Given the description of an element on the screen output the (x, y) to click on. 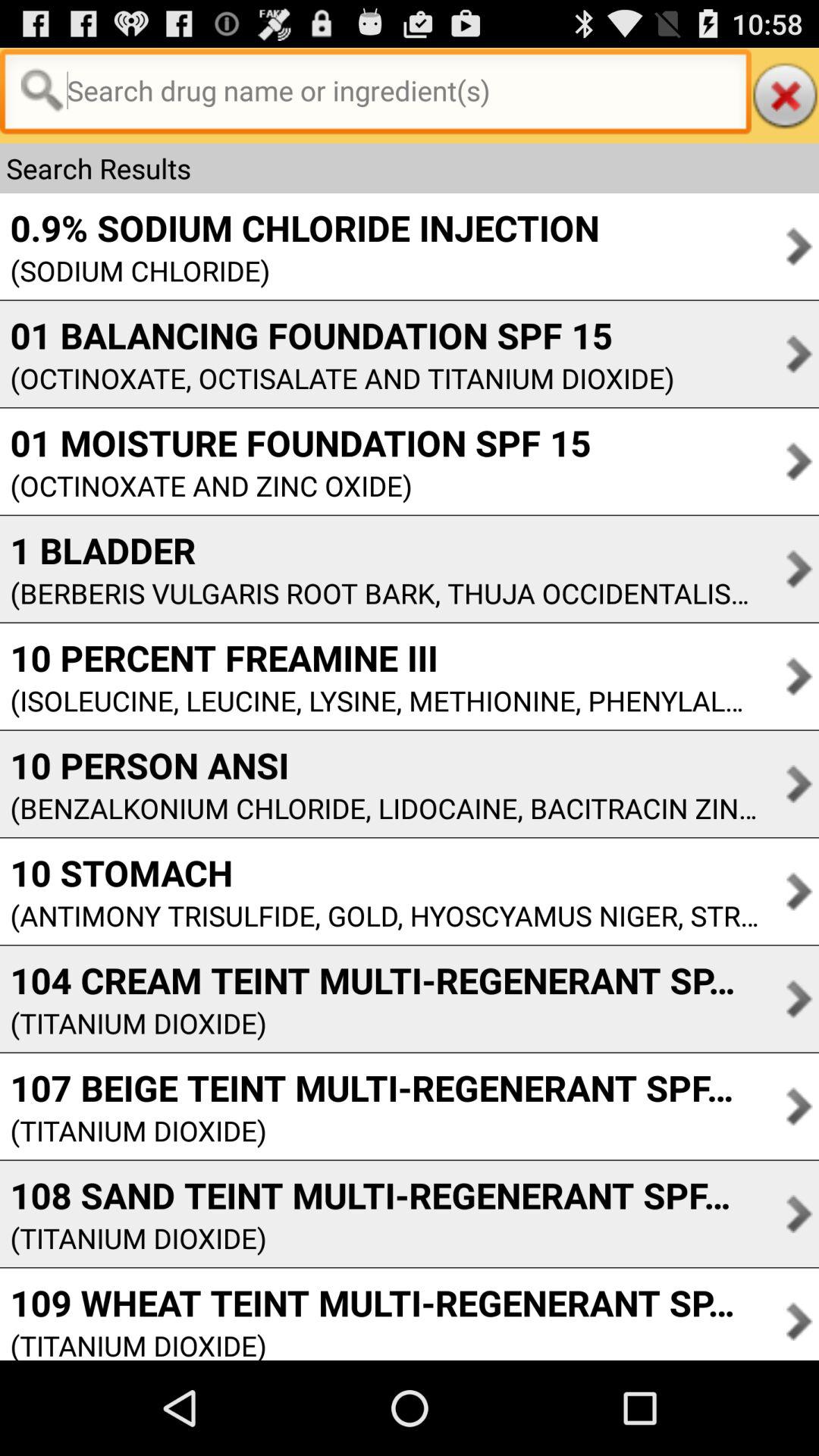
choose app above the isoleucine leucine lysine item (379, 657)
